Given the description of an element on the screen output the (x, y) to click on. 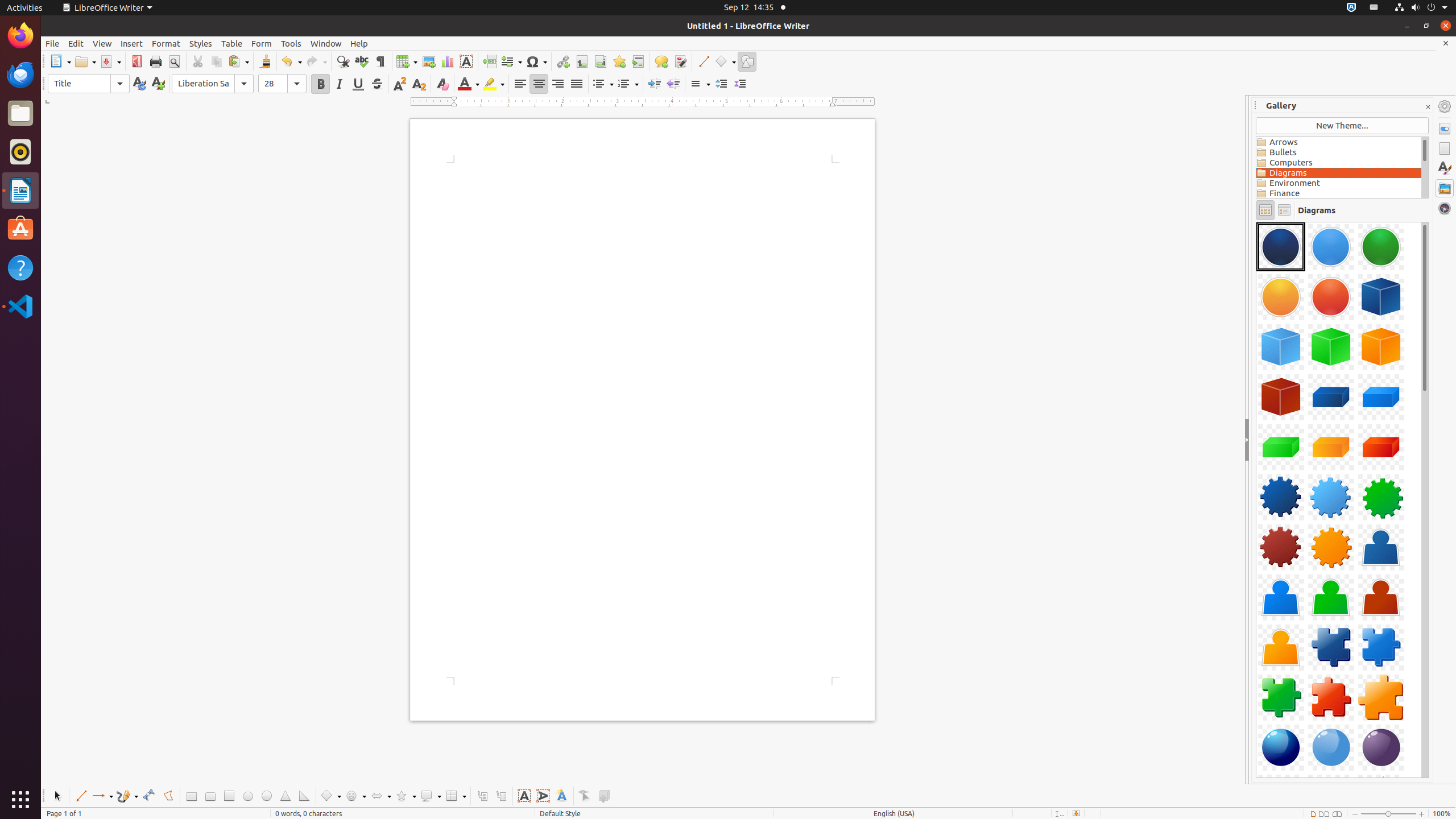
Hyperlink Element type: toggle-button (562, 61)
Justified Element type: toggle-button (576, 83)
Gallery Element type: radio-button (1444, 188)
Component-Cuboid01-DarkBlue Element type: list-item (1330, 396)
Component-Circle03-Transparent-Green Element type: list-item (1380, 246)
